Given the description of an element on the screen output the (x, y) to click on. 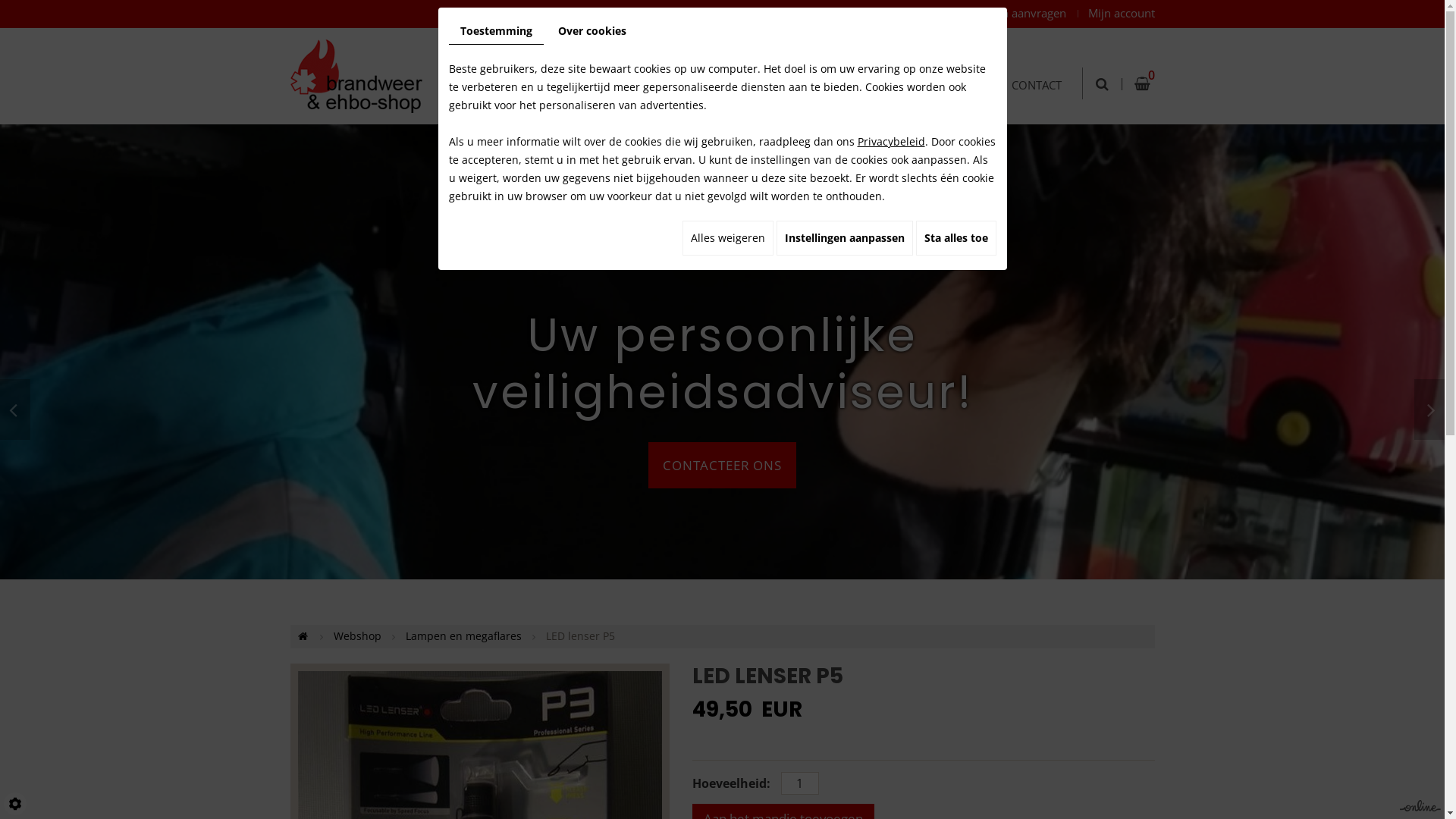
NIEUWS Element type: text (877, 67)
Volgend Element type: text (1429, 409)
Webshop Element type: text (357, 635)
WEBSHOP Element type: text (679, 67)
CONTACTEER ONS Element type: text (722, 465)
Mijn account Element type: text (1111, 12)
Privacybeleid Element type: text (890, 141)
Brandweer & EHBO-shop - Veiligheidspreventie Element type: hover (355, 74)
CONTACT Element type: text (1035, 67)
Sta alles toe Element type: text (956, 237)
LINKS Element type: text (954, 67)
HOME Element type: text (594, 67)
Alles weigeren Element type: text (727, 237)
Toestemming Element type: text (495, 31)
Lampen en megaflares Element type: text (462, 635)
Login aanvragen Element type: text (1022, 12)
1 Element type: hover (800, 782)
PRODUCTEN Element type: text (781, 67)
Vorig Element type: text (15, 409)
Cookie-instelling bewerken Element type: text (14, 803)
Over cookies Element type: text (591, 30)
Instellingen aanpassen Element type: text (844, 237)
